Given the description of an element on the screen output the (x, y) to click on. 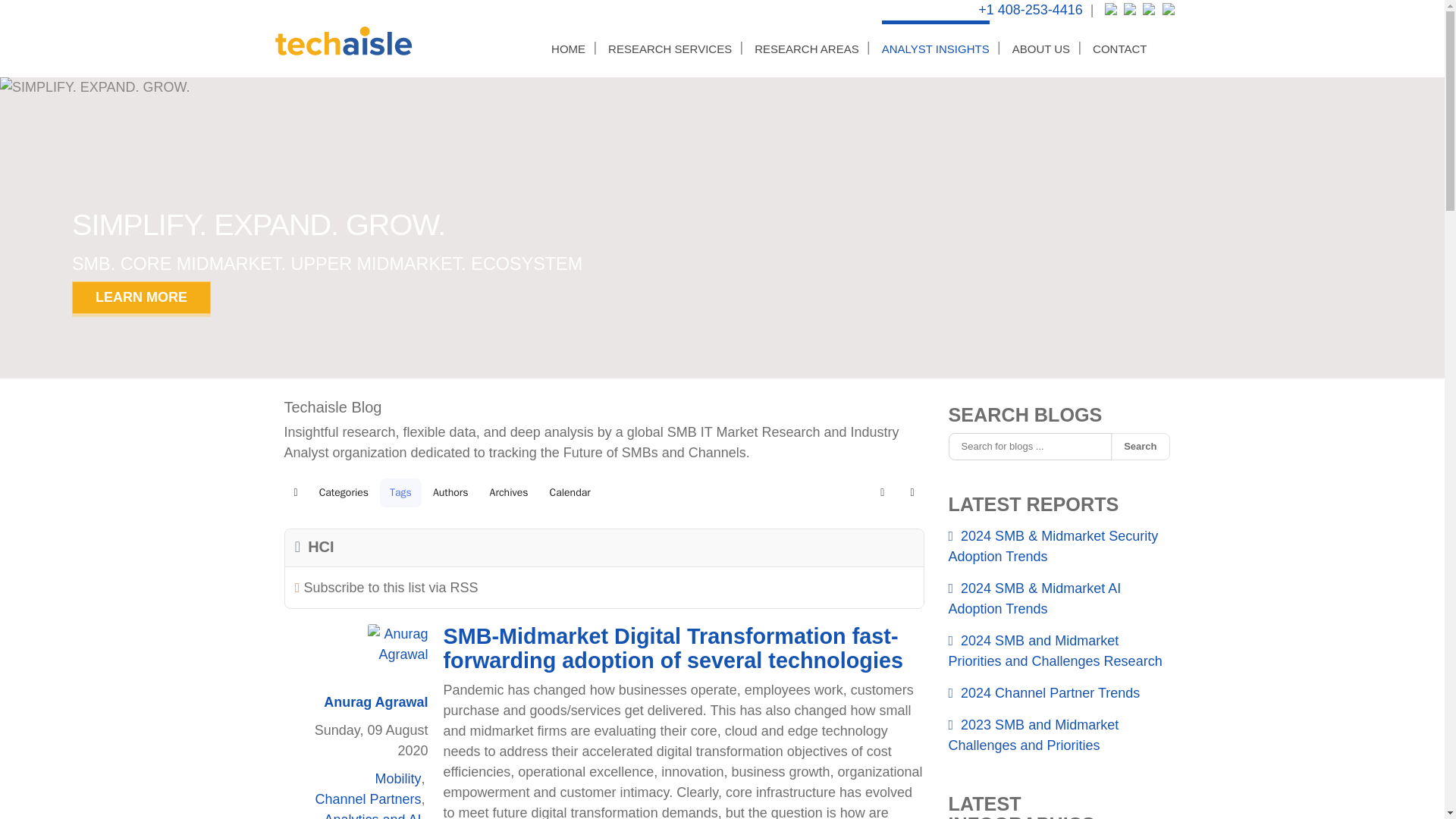
twitter image (1112, 10)
techaisle-logo-200 image (342, 40)
LEARN MORE (141, 297)
ABOUT US (1040, 48)
pinterest image (1149, 10)
linkedin image (1131, 10)
RESEARCH AREAS (806, 48)
Categories (343, 492)
blog image (1168, 10)
CONTACT (1120, 48)
